Given the description of an element on the screen output the (x, y) to click on. 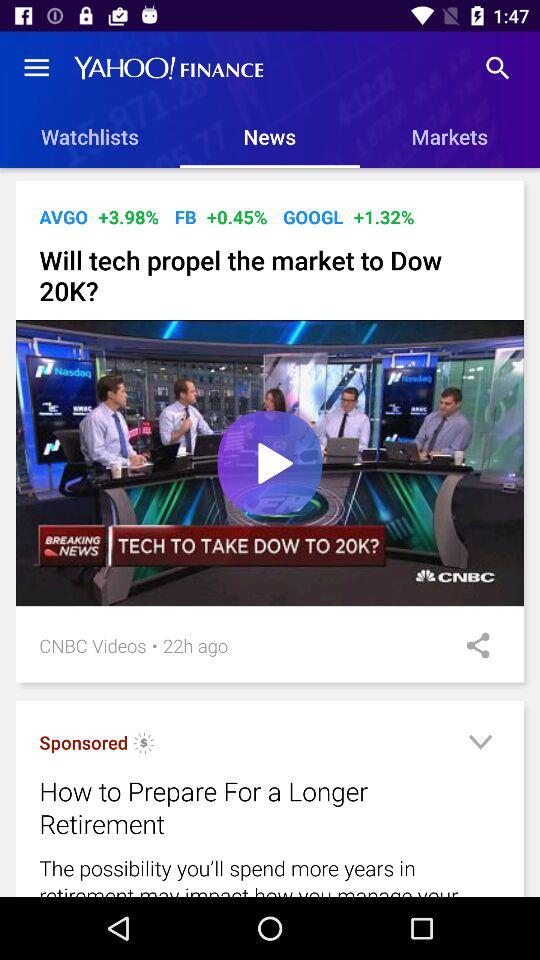
go to advertisement (480, 745)
